Given the description of an element on the screen output the (x, y) to click on. 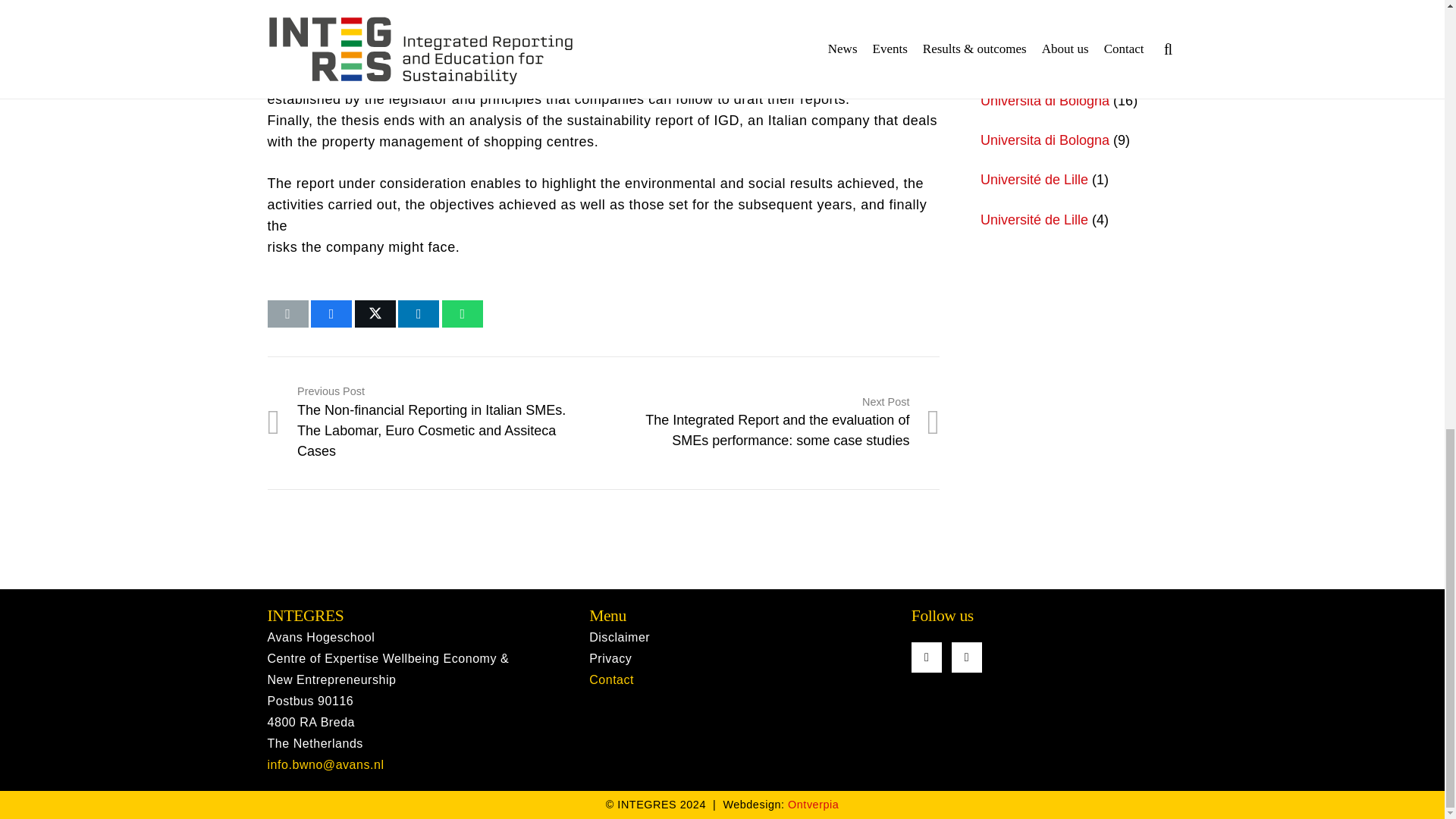
Share this (418, 313)
YouTube (926, 657)
TU Dublin (1010, 61)
LinkedIn (966, 657)
Share this (462, 313)
Email this (286, 313)
Tweet this (375, 313)
Share this (331, 313)
TU Dublin (1010, 21)
